Given the description of an element on the screen output the (x, y) to click on. 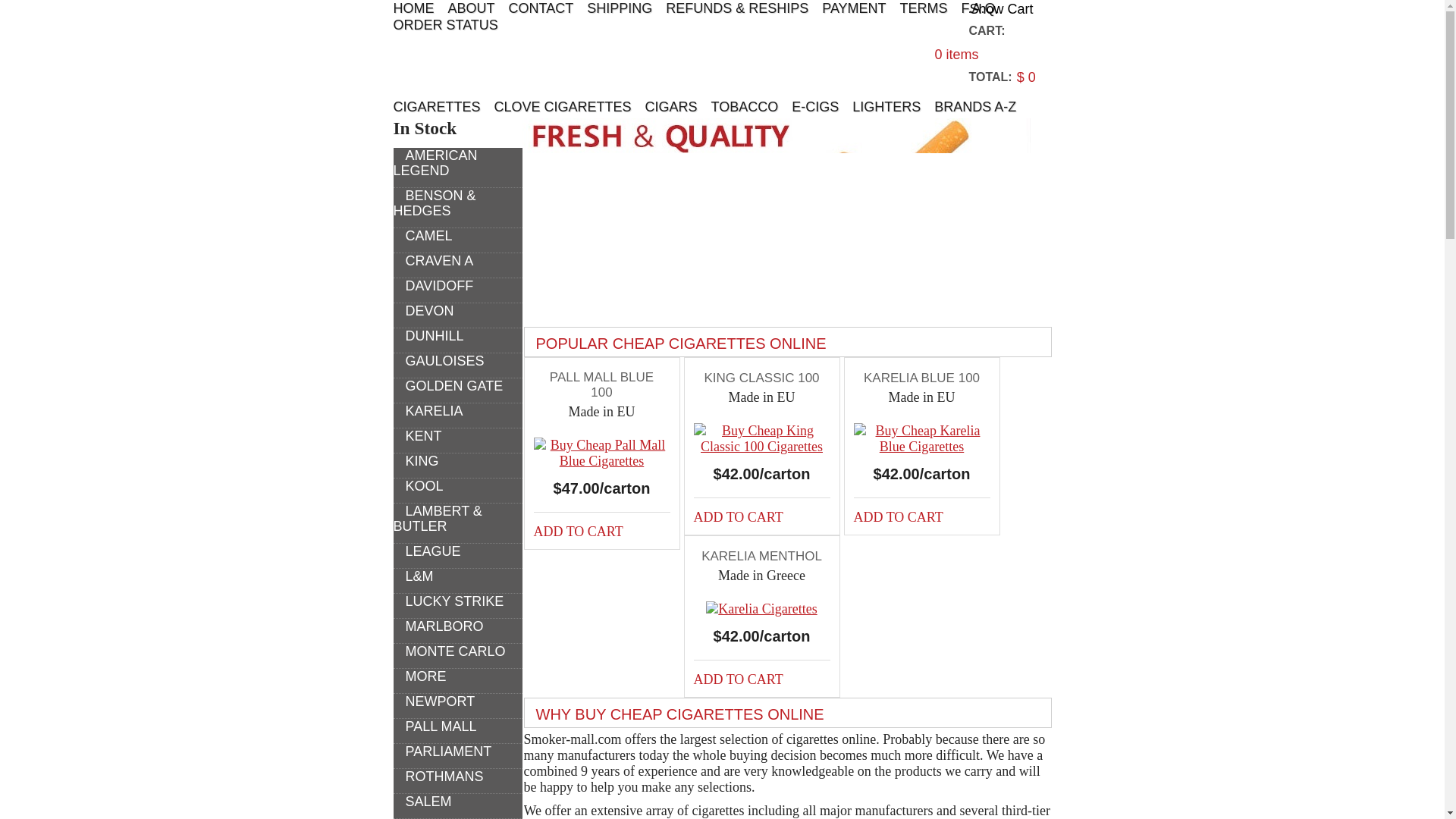
ABOUT (470, 8)
Discount Gauloises cigarettes online (438, 360)
MARLBORO (438, 626)
ORDER STATUS (445, 24)
Buy Tax Free King cigarettes online (415, 460)
MORE (419, 676)
DUNHILL (428, 335)
TERMS (923, 8)
KENT (417, 435)
PAYMENT (853, 8)
